Given the description of an element on the screen output the (x, y) to click on. 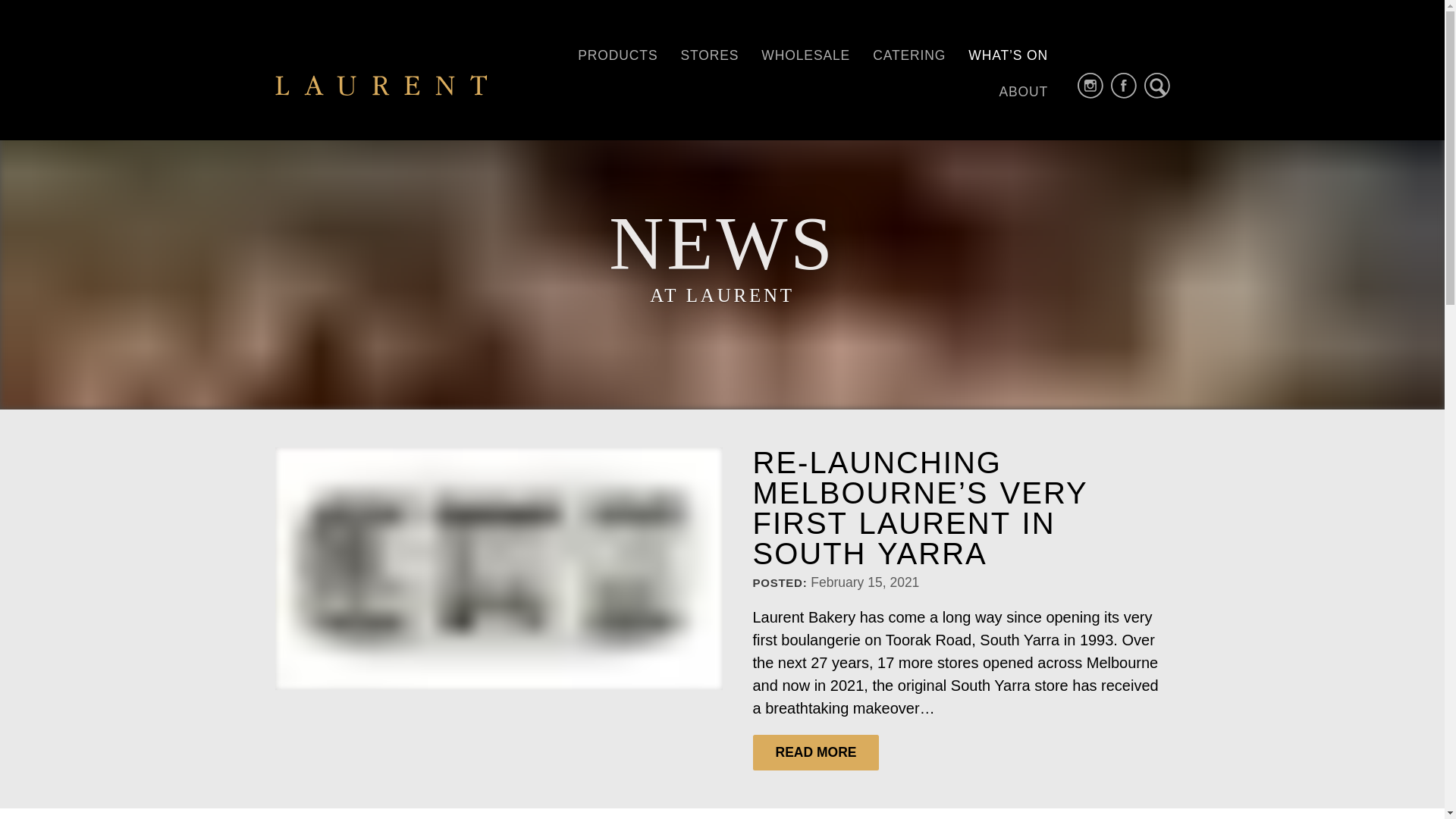
WHOLESALE Element type: text (805, 55)
Visit our Facebook page Element type: hover (1123, 85)
STORES Element type: text (708, 55)
Search Laurent Bakery Element type: hover (1156, 85)
Find us on Instagram Element type: hover (1090, 85)
CATERING Element type: text (909, 55)
PRODUCTS Element type: text (617, 55)
READ MORE Element type: text (815, 752)
ABOUT Element type: text (1023, 92)
Back to home Element type: hover (380, 84)
